Given the description of an element on the screen output the (x, y) to click on. 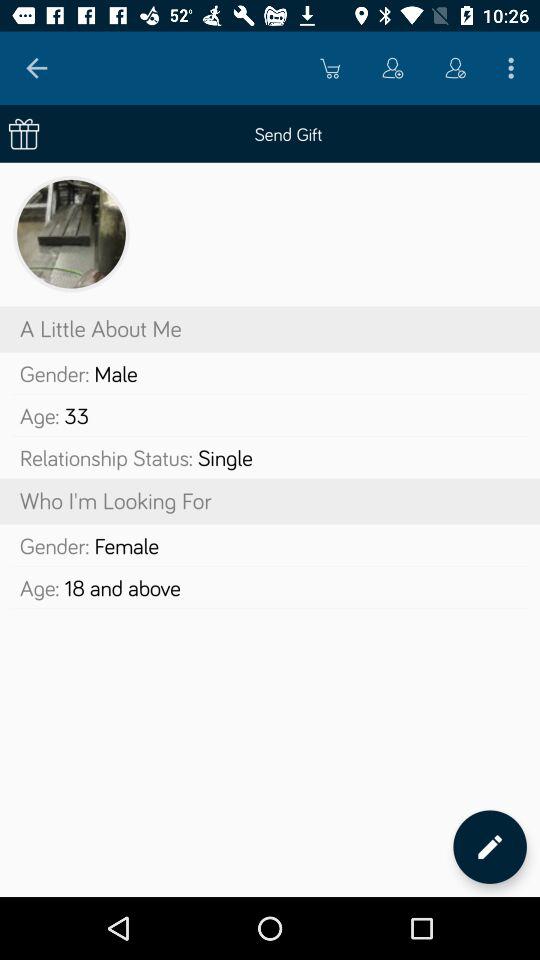
edit profile information (489, 846)
